Given the description of an element on the screen output the (x, y) to click on. 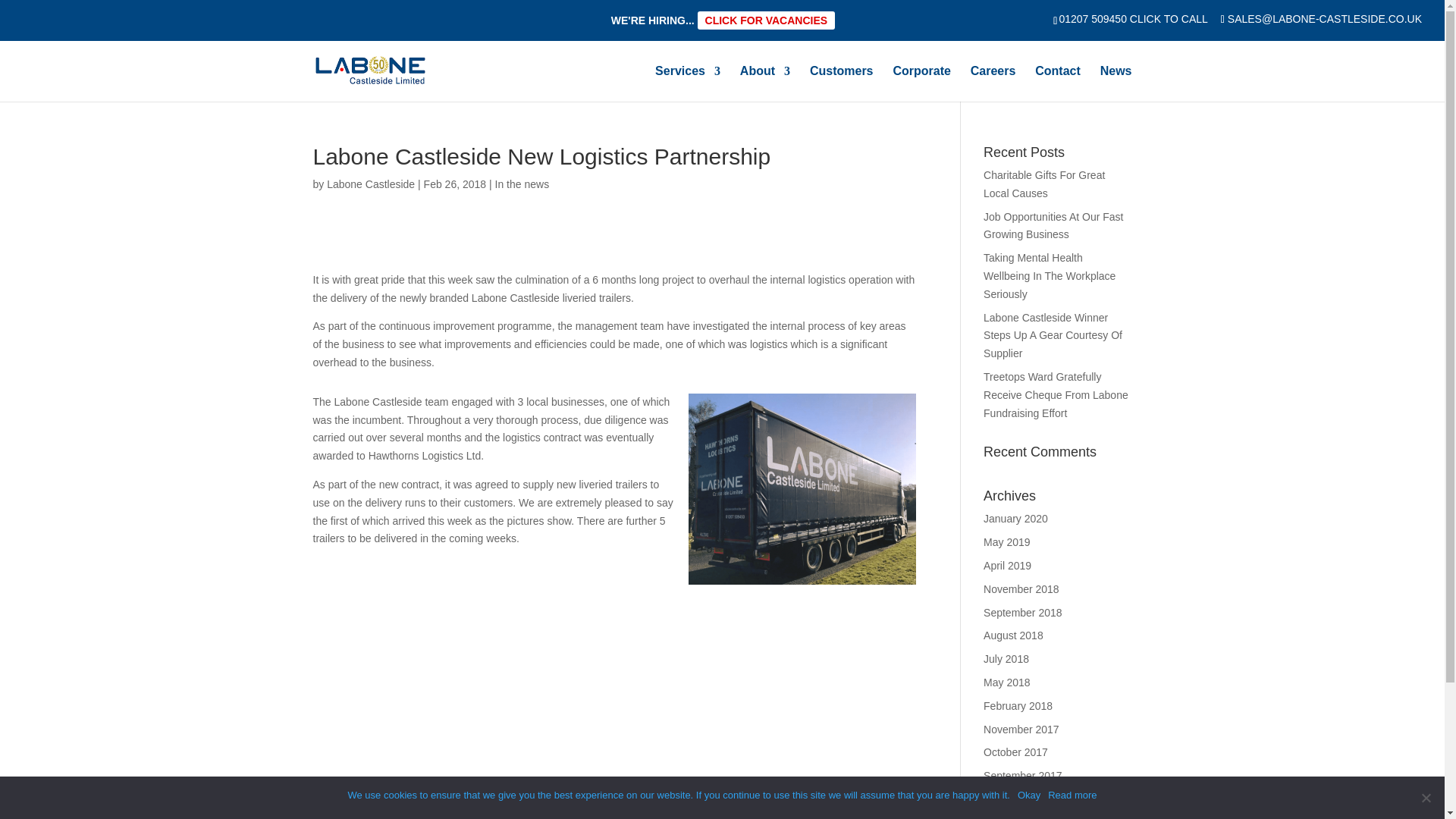
Contact (1057, 83)
About (764, 83)
CLICK FOR VACANCIES (766, 20)
Services (687, 83)
No (1425, 797)
January 2020 (1016, 518)
Taking Mental Health Wellbeing In The Workplace Seriously (1049, 275)
In the news (522, 184)
News (1116, 83)
May 2019 (1006, 541)
